Given the description of an element on the screen output the (x, y) to click on. 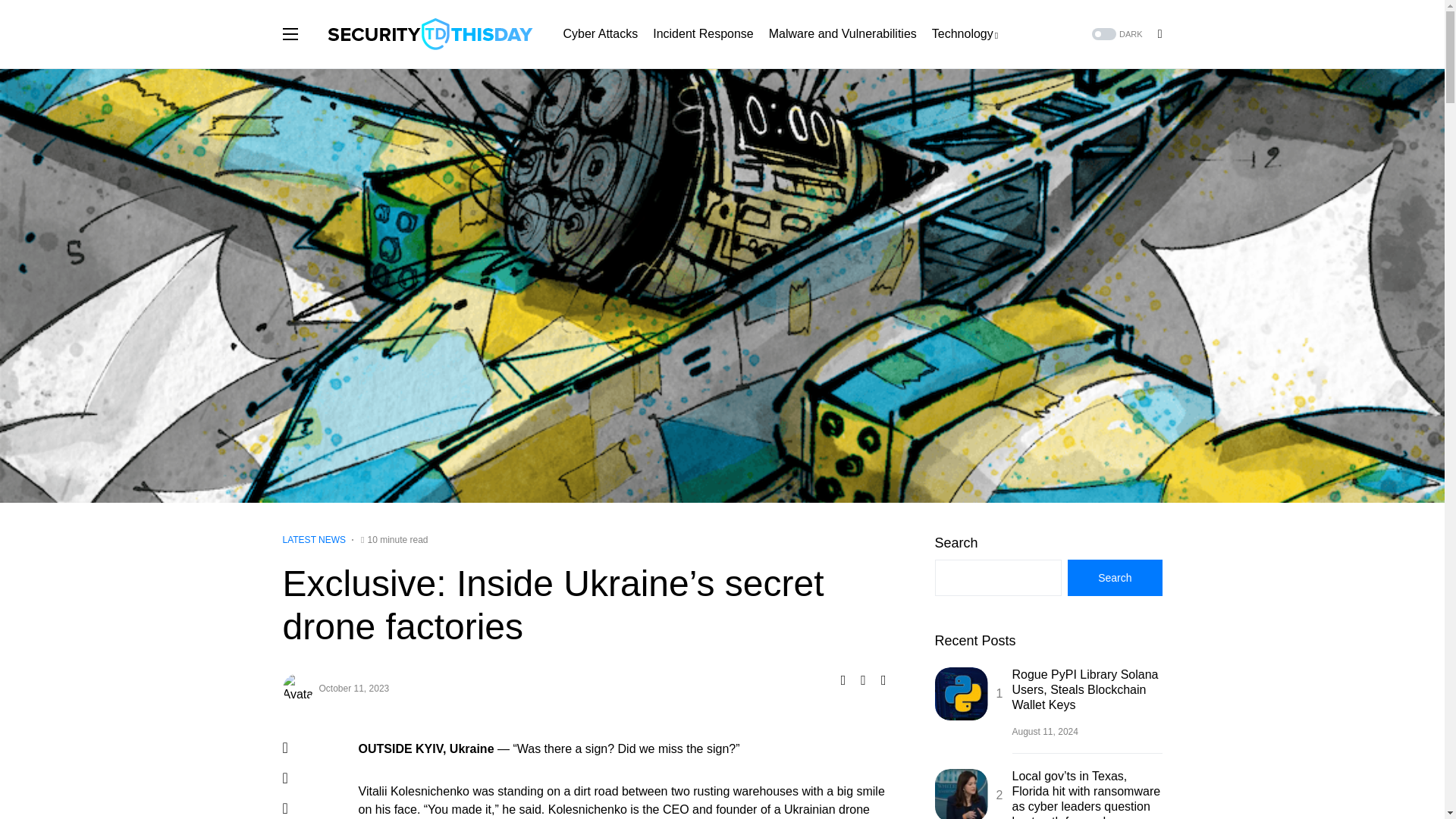
Malware and Vulnerabilities (842, 33)
Cyber Attacks (599, 33)
Technology (964, 33)
Incident Response (703, 33)
